Given the description of an element on the screen output the (x, y) to click on. 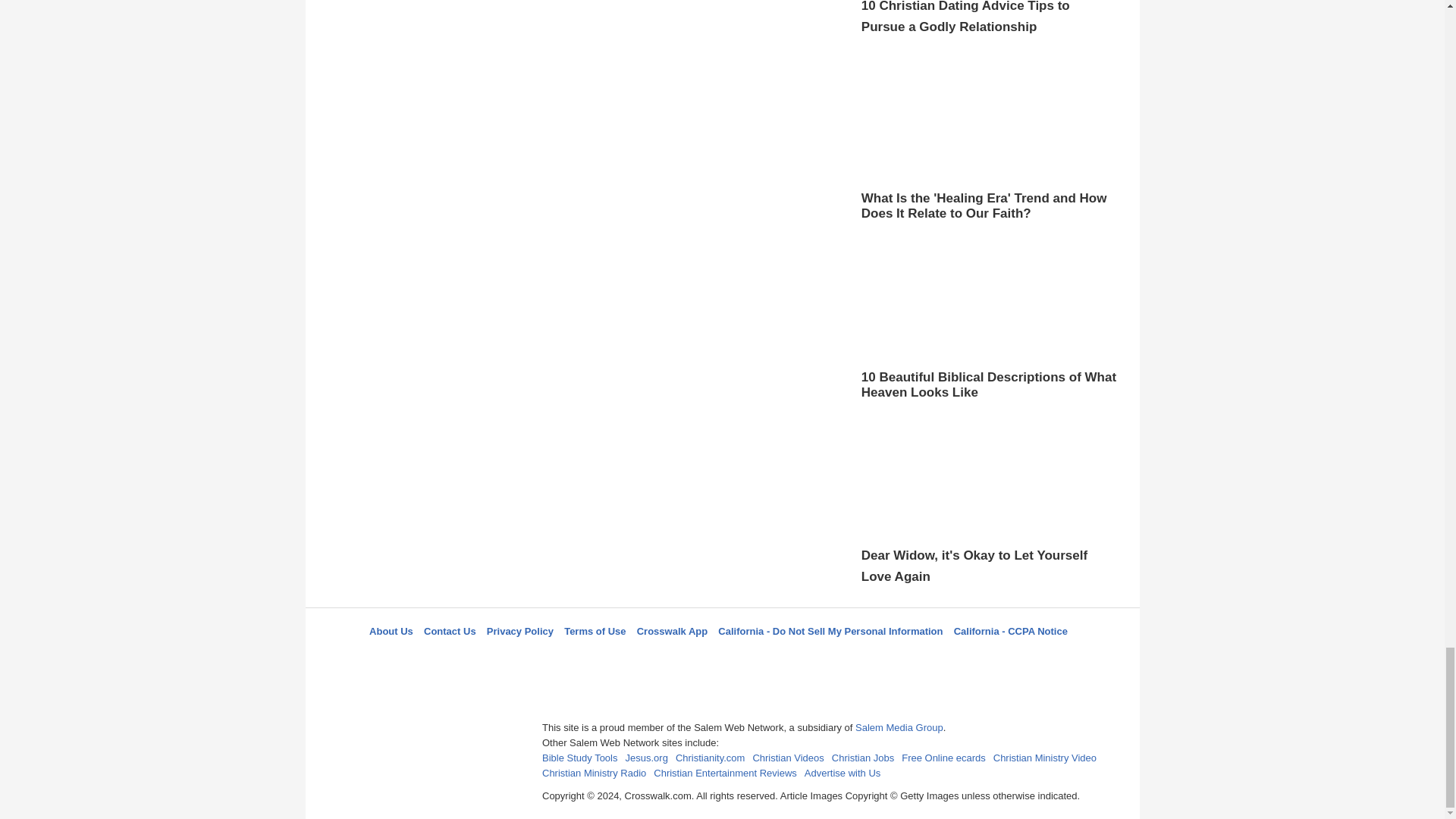
YouTube (795, 658)
Facebook (645, 658)
Pinterest (757, 658)
Twitter (683, 658)
LifeAudio (719, 658)
